Given the description of an element on the screen output the (x, y) to click on. 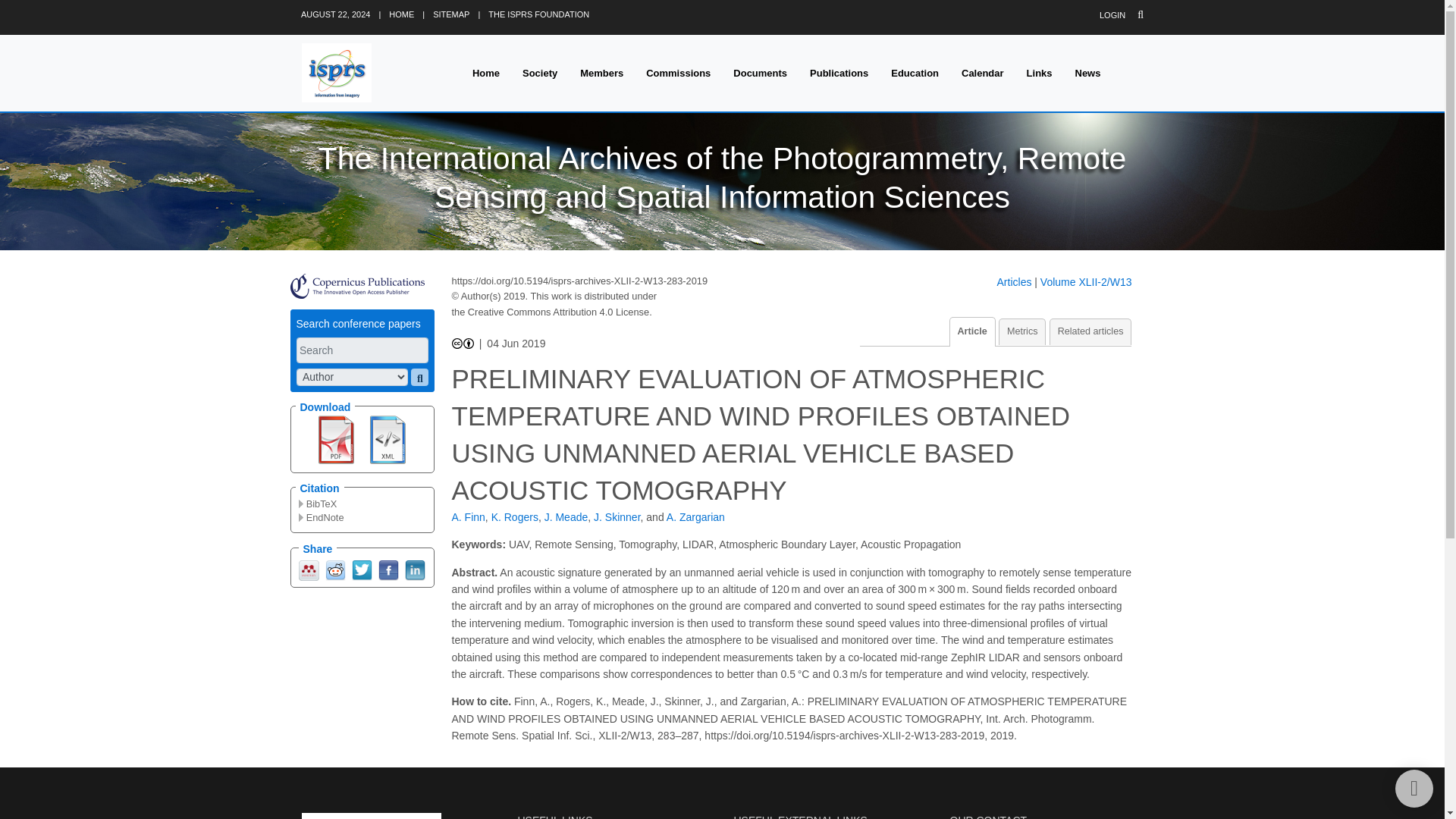
THE ISPRS FOUNDATION (538, 13)
Society (539, 73)
Home (485, 73)
LOGIN (1112, 14)
SITEMAP (450, 13)
HOME (400, 13)
